Given the description of an element on the screen output the (x, y) to click on. 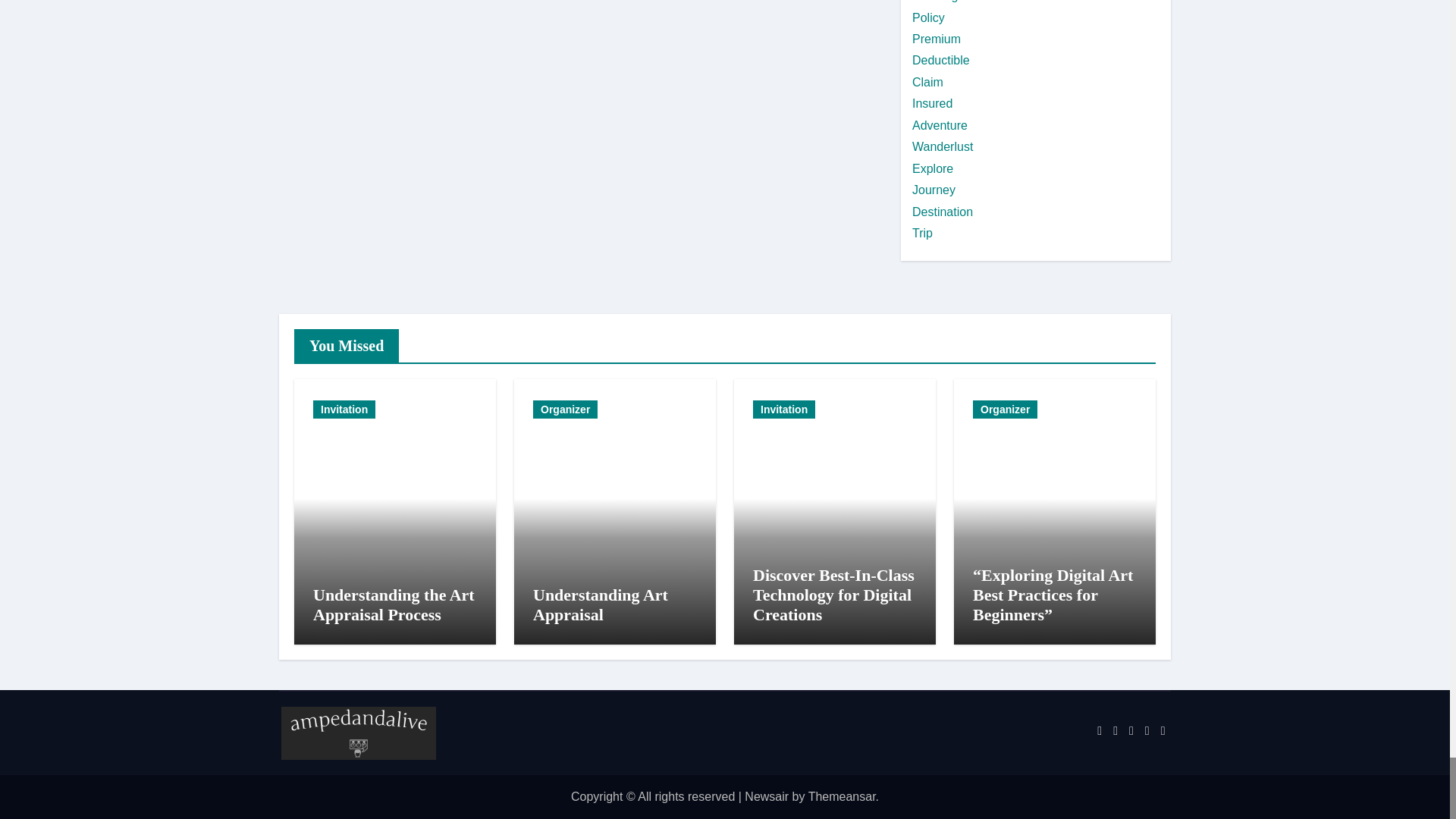
Permalink to: Understanding the Art Appraisal Process (393, 604)
